Given the description of an element on the screen output the (x, y) to click on. 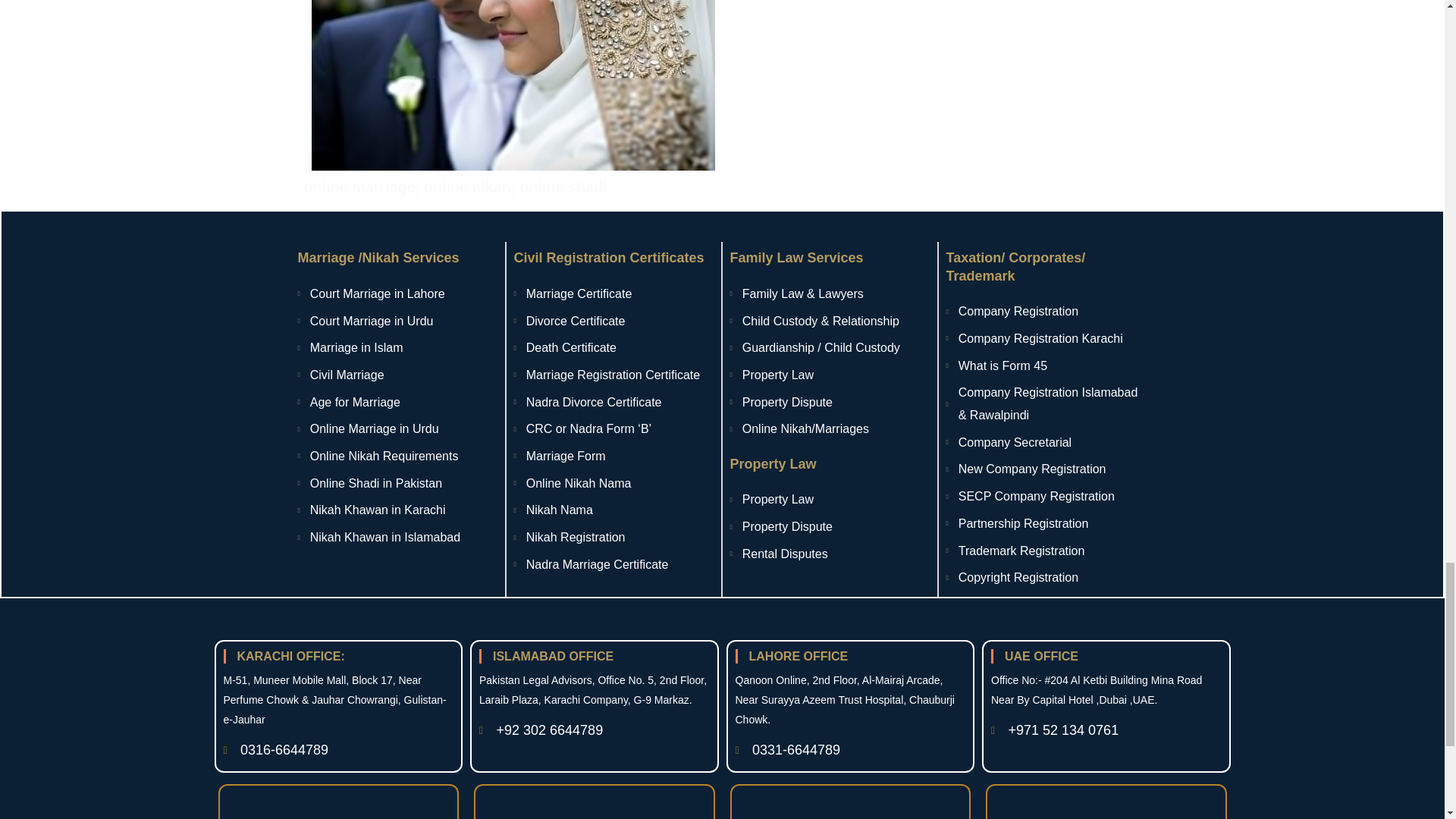
UAE OFFICE (1106, 656)
ISLAMABAD OFFICE (828, 526)
Property Law (594, 656)
0316-6644789 (828, 464)
LAHORE OFFICE (337, 749)
KARACHI OFFICE: (850, 656)
Family Law Services (337, 656)
0331-6644789 (828, 257)
Civil Registration Certificates (850, 749)
